Given the description of an element on the screen output the (x, y) to click on. 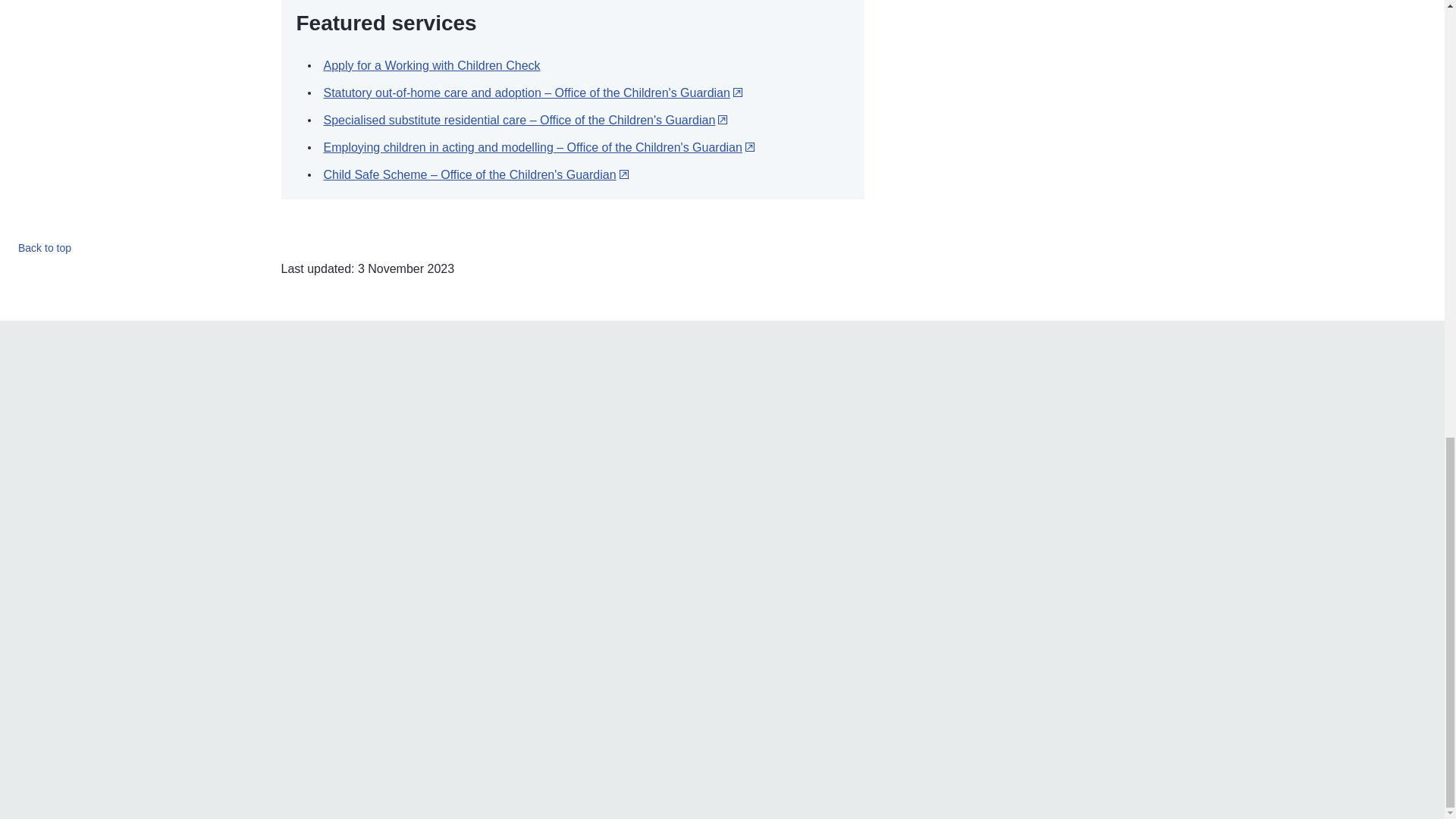
Apply for a Working with Children Check (431, 65)
Back to top (44, 247)
